Given the description of an element on the screen output the (x, y) to click on. 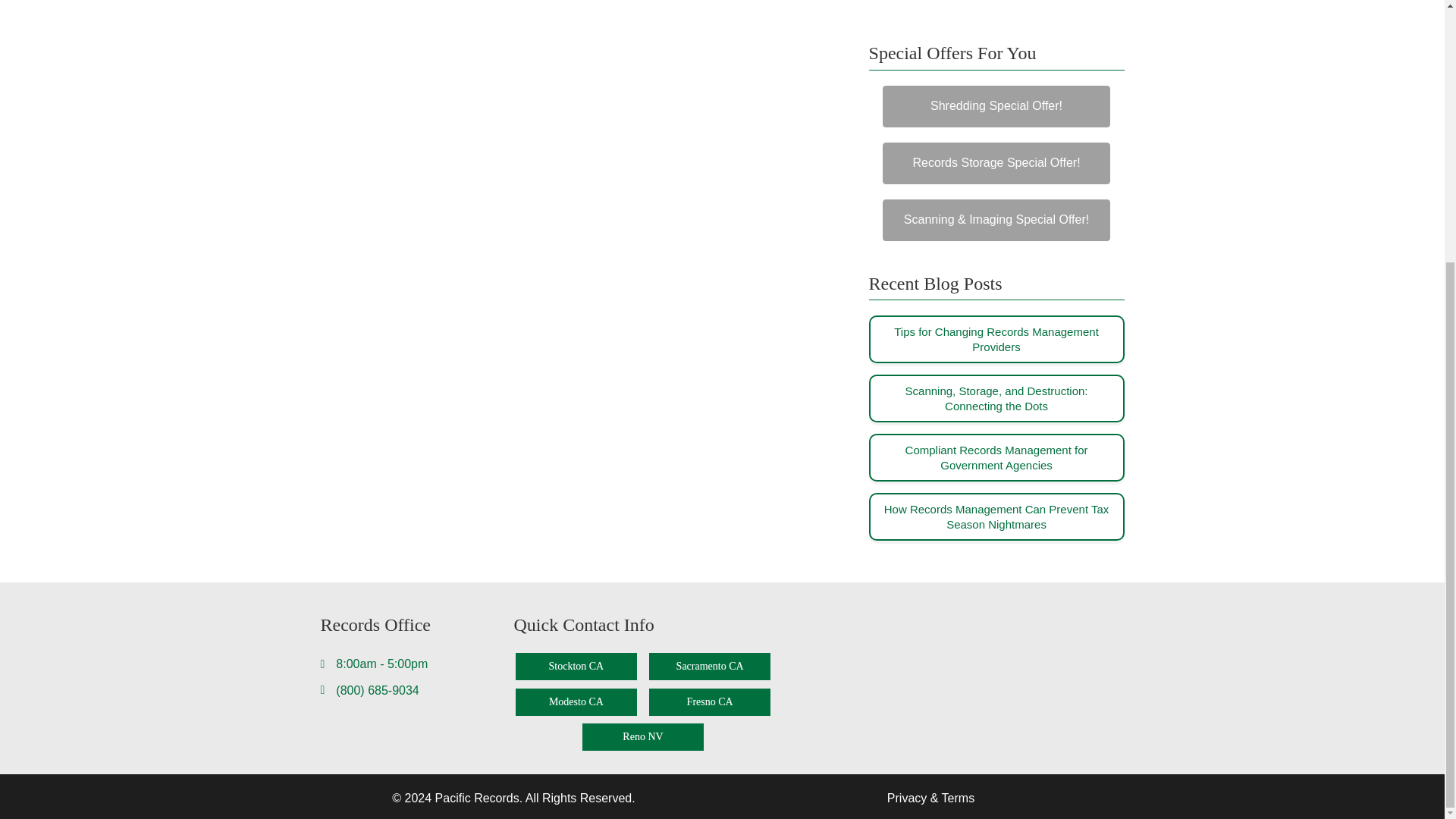
Scanning, Storage, and Destruction: Connecting the Dots (996, 398)
Click Here (995, 219)
View Box Content (996, 339)
View Box Content (996, 516)
Click Here (995, 106)
Click Here (995, 163)
Compliant Records Management for Government Agencies (996, 457)
View Box Content (996, 457)
Tips for Changing Records Management Providers (996, 338)
View Box Content (996, 398)
